Given the description of an element on the screen output the (x, y) to click on. 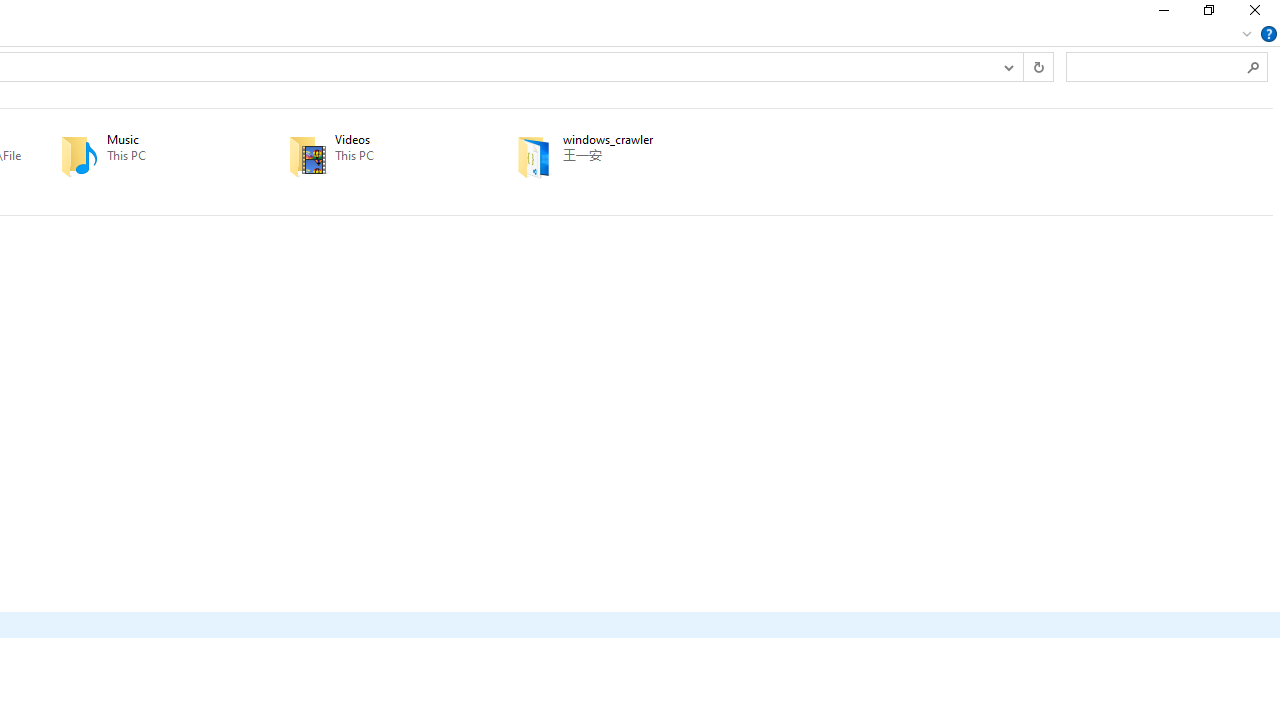
Videos (374, 156)
Search Box (1156, 66)
Music (146, 156)
Search (1253, 66)
Help (1269, 33)
Pinned (635, 170)
Minimize the Ribbon (1247, 33)
windows_crawler (602, 156)
Refresh "Quick access" (F5) (1037, 66)
Minimize (1162, 14)
Previous Locations (1007, 66)
Restore (1208, 14)
Path (635, 155)
Address band toolbar (1023, 66)
Class: UIImage (534, 155)
